Given the description of an element on the screen output the (x, y) to click on. 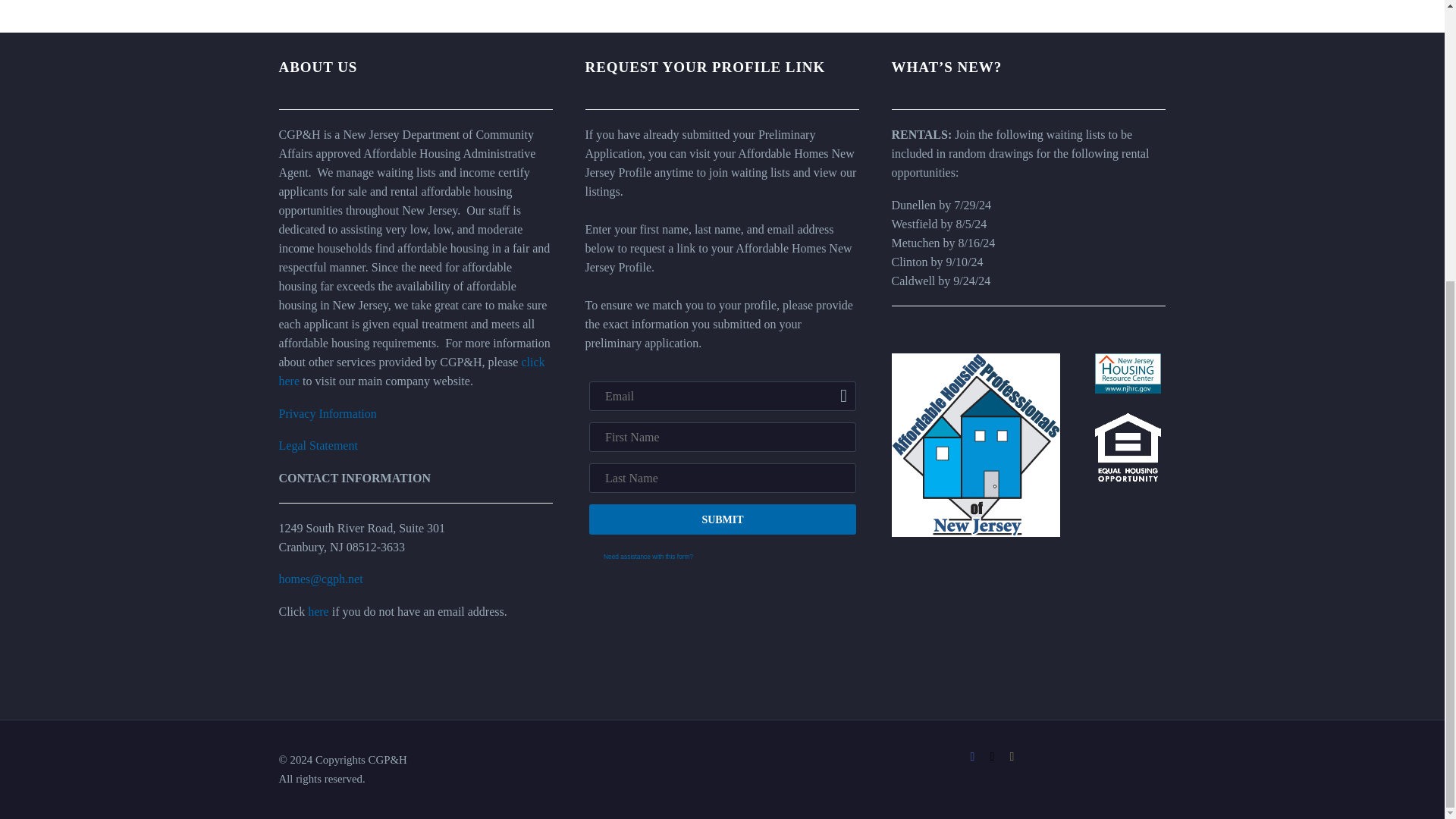
Twitter (991, 756)
Instagram (1011, 756)
Privacy Information (328, 413)
click here (411, 371)
Legal Statement (318, 445)
Facebook (972, 756)
here (318, 611)
